Given the description of an element on the screen output the (x, y) to click on. 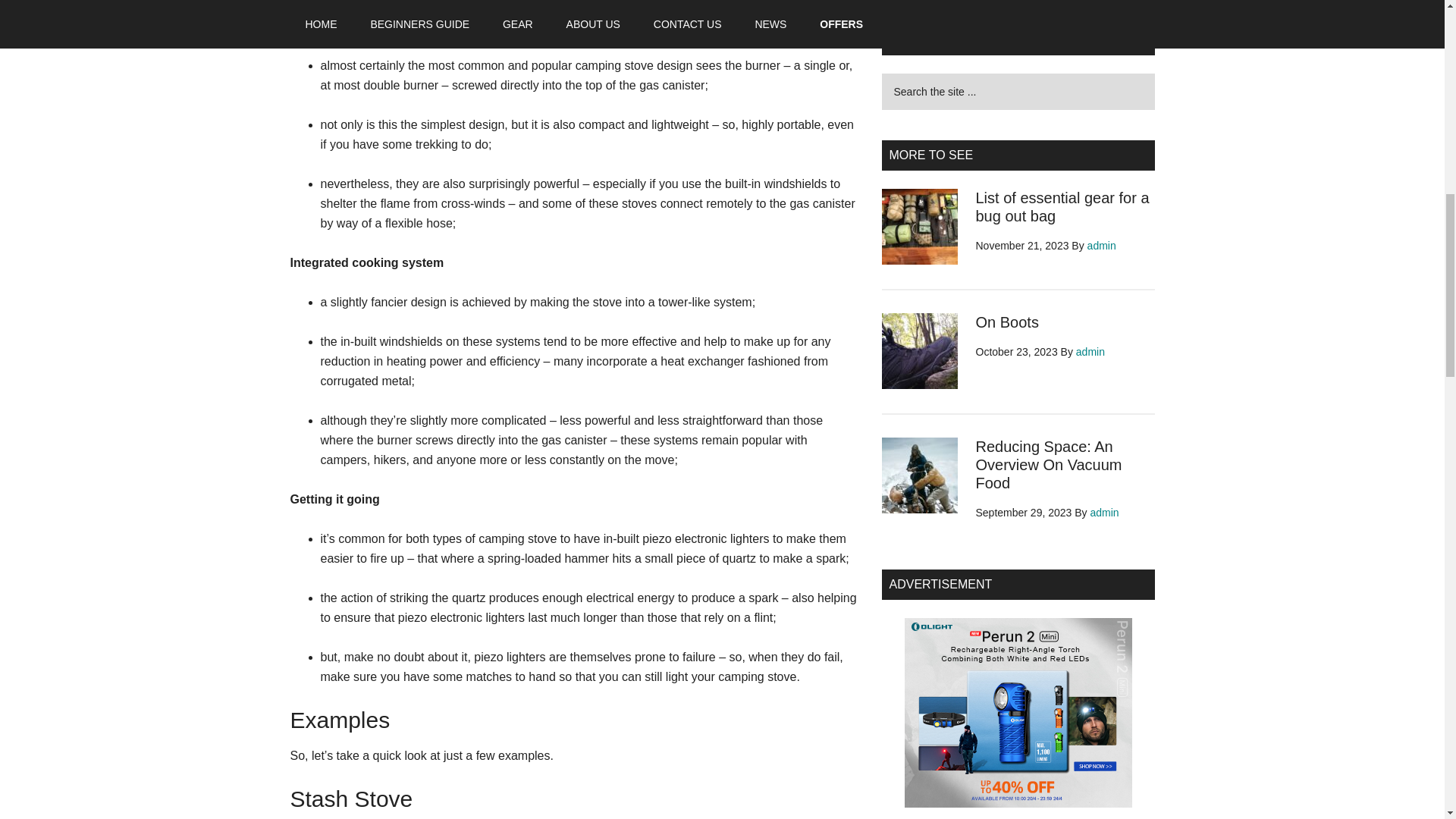
Reducing Space: An Overview On Vacuum Food (1048, 464)
admin (1090, 351)
List of essential gear for a bug out bag (1061, 206)
admin (1101, 245)
On Boots (1006, 321)
admin (1104, 512)
